Given the description of an element on the screen output the (x, y) to click on. 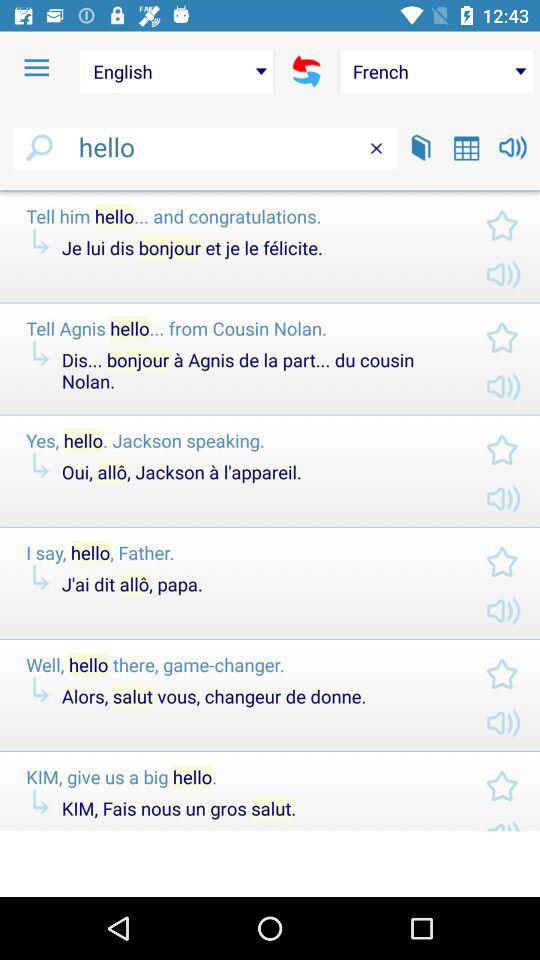
tabs (466, 148)
